Given the description of an element on the screen output the (x, y) to click on. 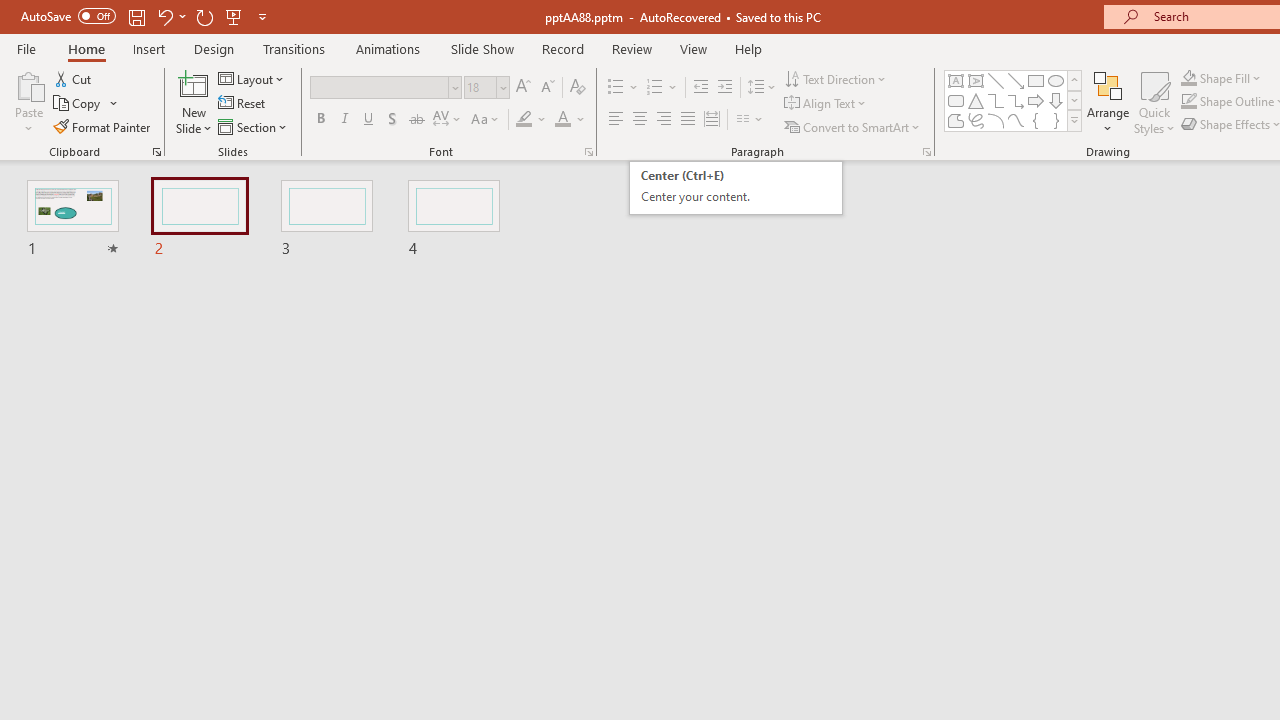
Format Painter (103, 126)
Font Color (569, 119)
Font... (588, 151)
Curve (1016, 120)
Numbering (661, 87)
Section (254, 126)
Open (502, 87)
Line (995, 80)
Office Clipboard... (156, 151)
Reset (243, 103)
